Given the description of an element on the screen output the (x, y) to click on. 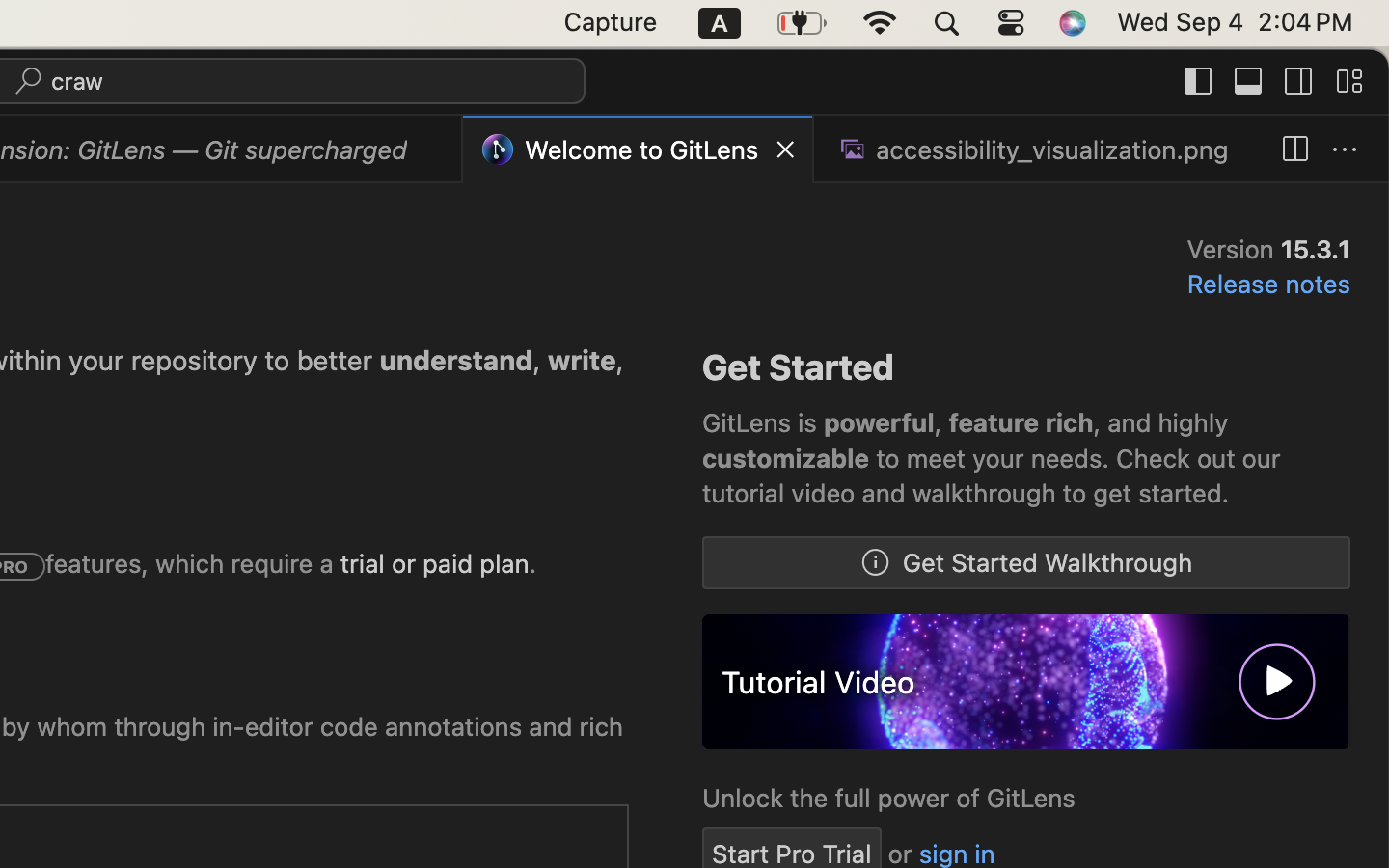
 Element type: AXButton (1294, 150)
Tutorial Video Element type: AXStaticText (818, 681)
, and highly Element type: AXStaticText (1160, 422)
1 Welcome to GitLens  Element type: AXRadioButton (639, 149)
 Element type: AXCheckBox (1299, 80)
